Given the description of an element on the screen output the (x, y) to click on. 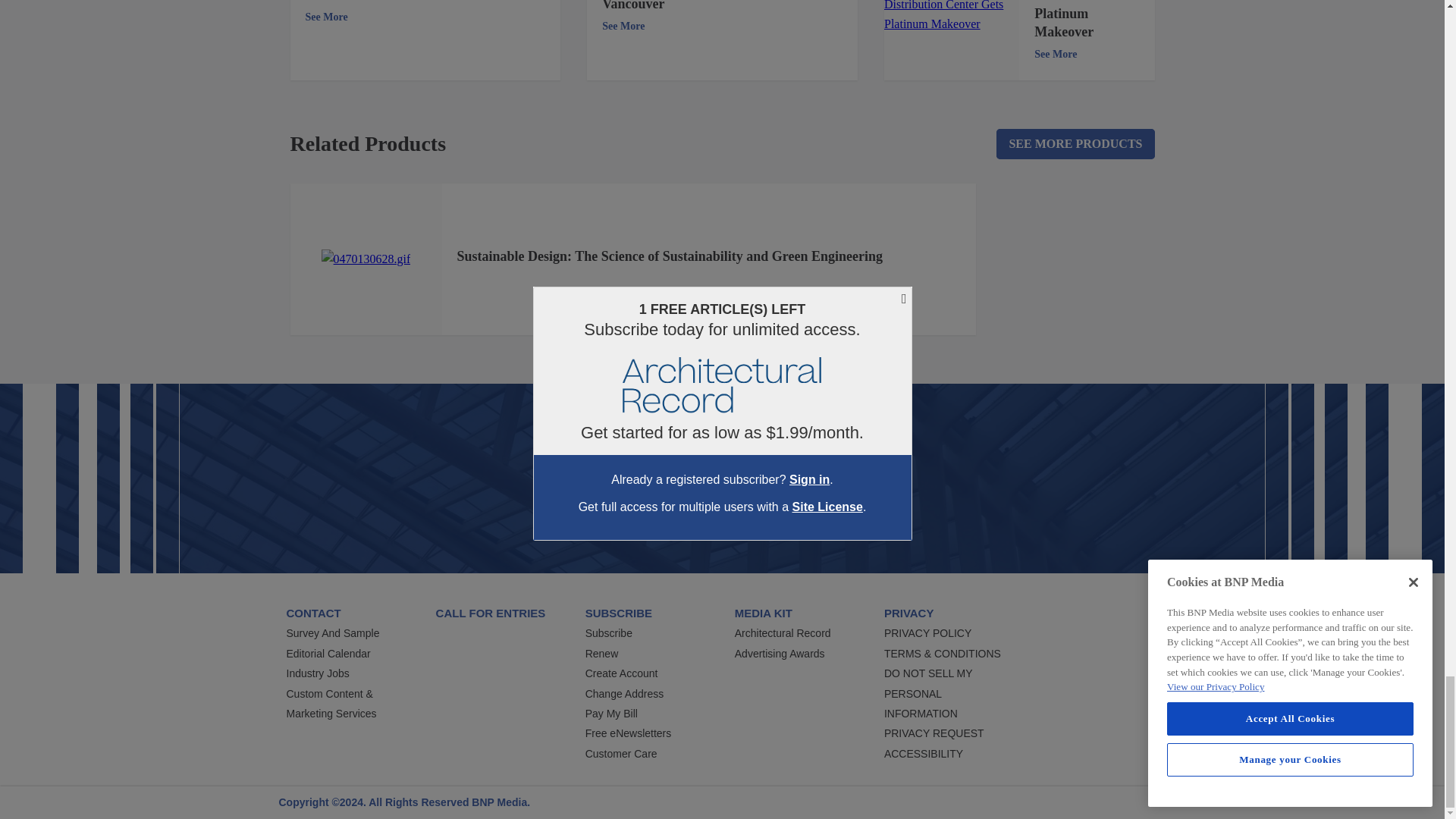
0470130628.gif (365, 259)
